Given the description of an element on the screen output the (x, y) to click on. 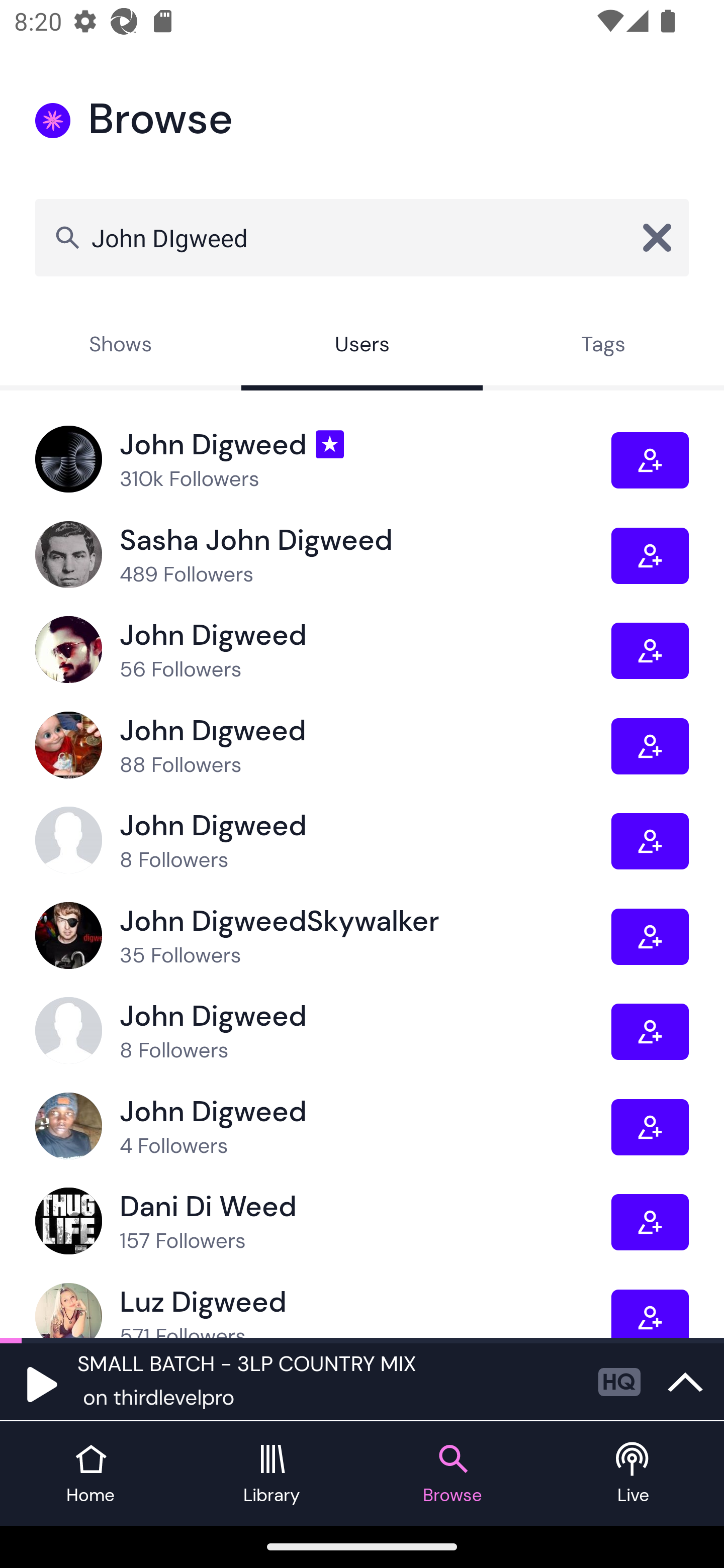
John DIgweed (361, 237)
Shows (120, 346)
Users (361, 346)
Tags (603, 346)
Follow (649, 460)
Follow (649, 555)
Follow (649, 650)
Follow (649, 746)
John Digweed, 8 Followers John Digweed 8 Followers (323, 839)
Follow (649, 840)
Follow (649, 935)
John Digweed, 8 Followers John Digweed 8 Followers (323, 1031)
Follow (649, 1031)
John Digweed, 4 Followers John Digweed 4 Followers (323, 1126)
Follow (649, 1127)
Follow (649, 1221)
Follow (649, 1312)
Home tab Home (90, 1473)
Library tab Library (271, 1473)
Browse tab Browse (452, 1473)
Live tab Live (633, 1473)
